Given the description of an element on the screen output the (x, y) to click on. 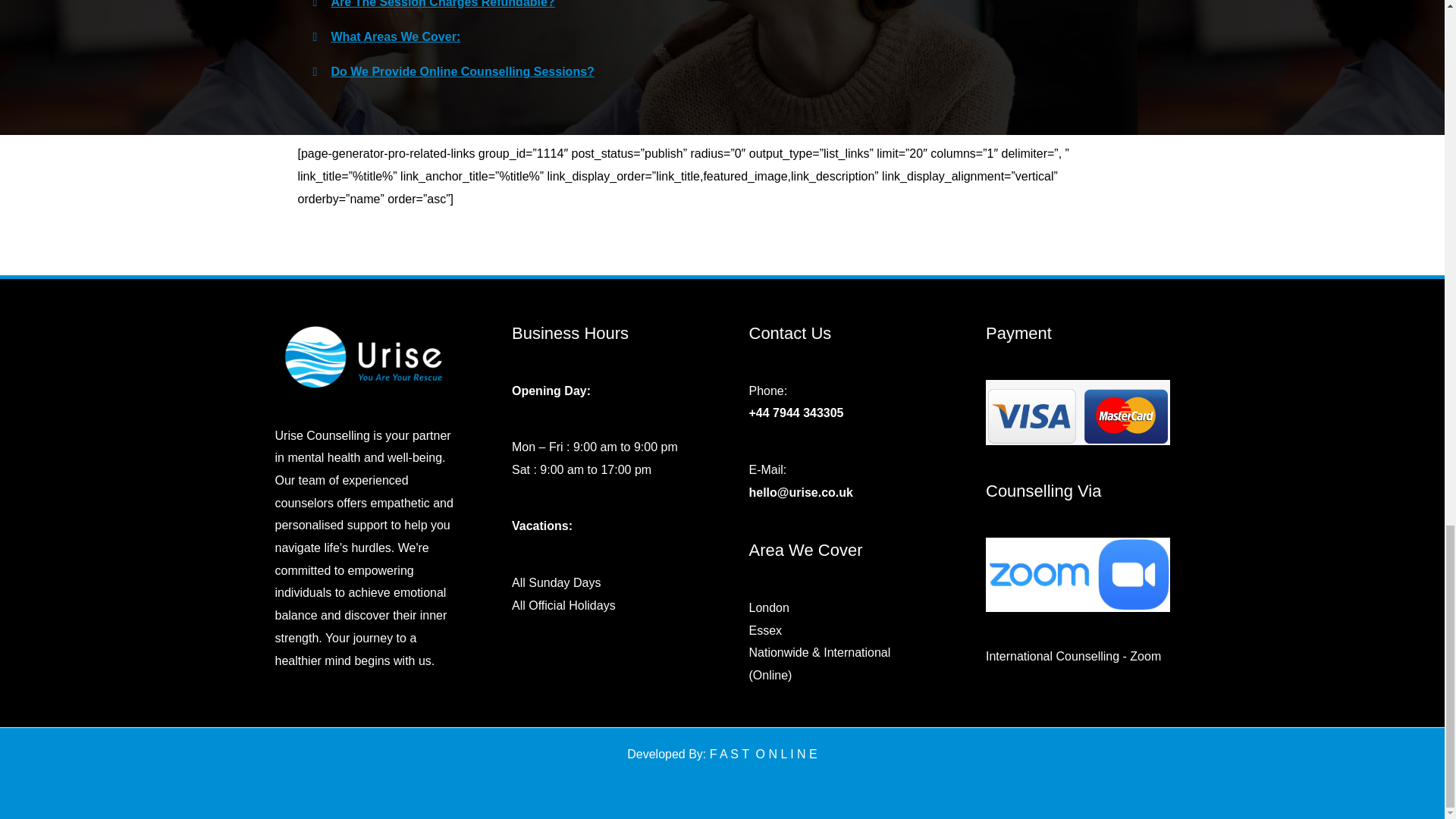
What Areas We Cover: (395, 36)
Are The Session Charges Refundable? (442, 4)
Do We Provide Online Counselling Sessions? (462, 71)
